Given the description of an element on the screen output the (x, y) to click on. 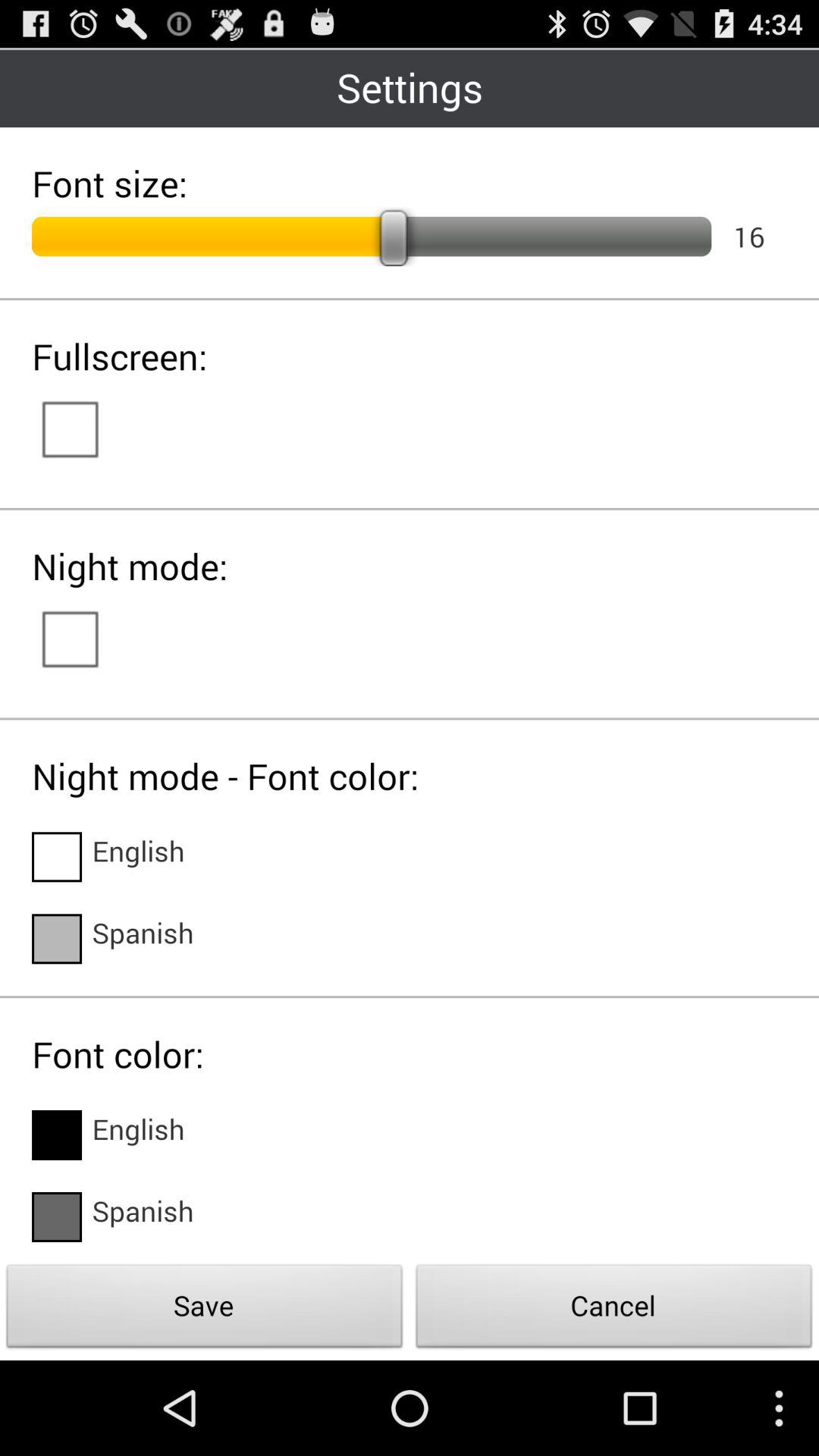
select english language (56, 857)
